Given the description of an element on the screen output the (x, y) to click on. 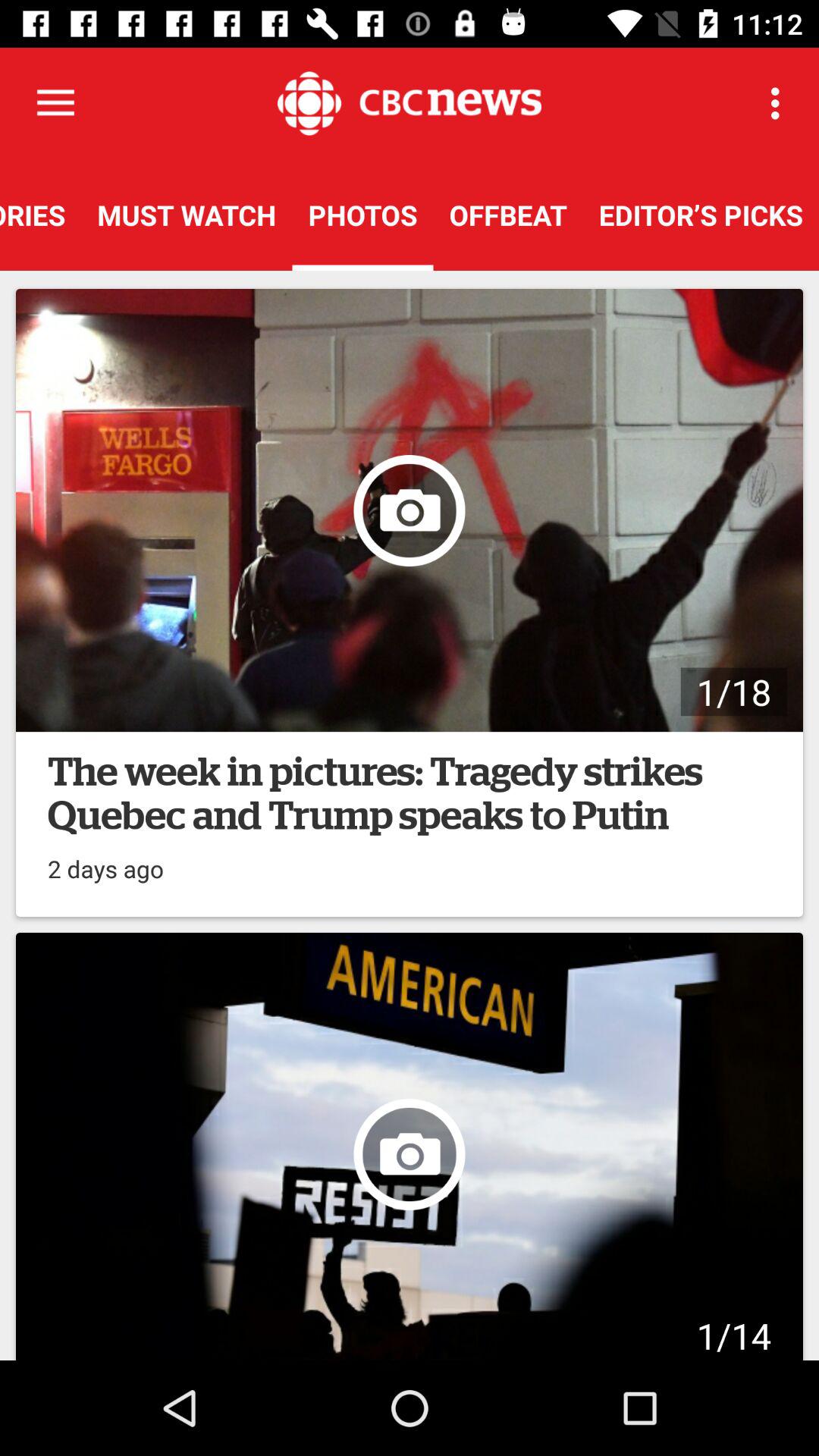
open the offbeat item (507, 214)
